Given the description of an element on the screen output the (x, y) to click on. 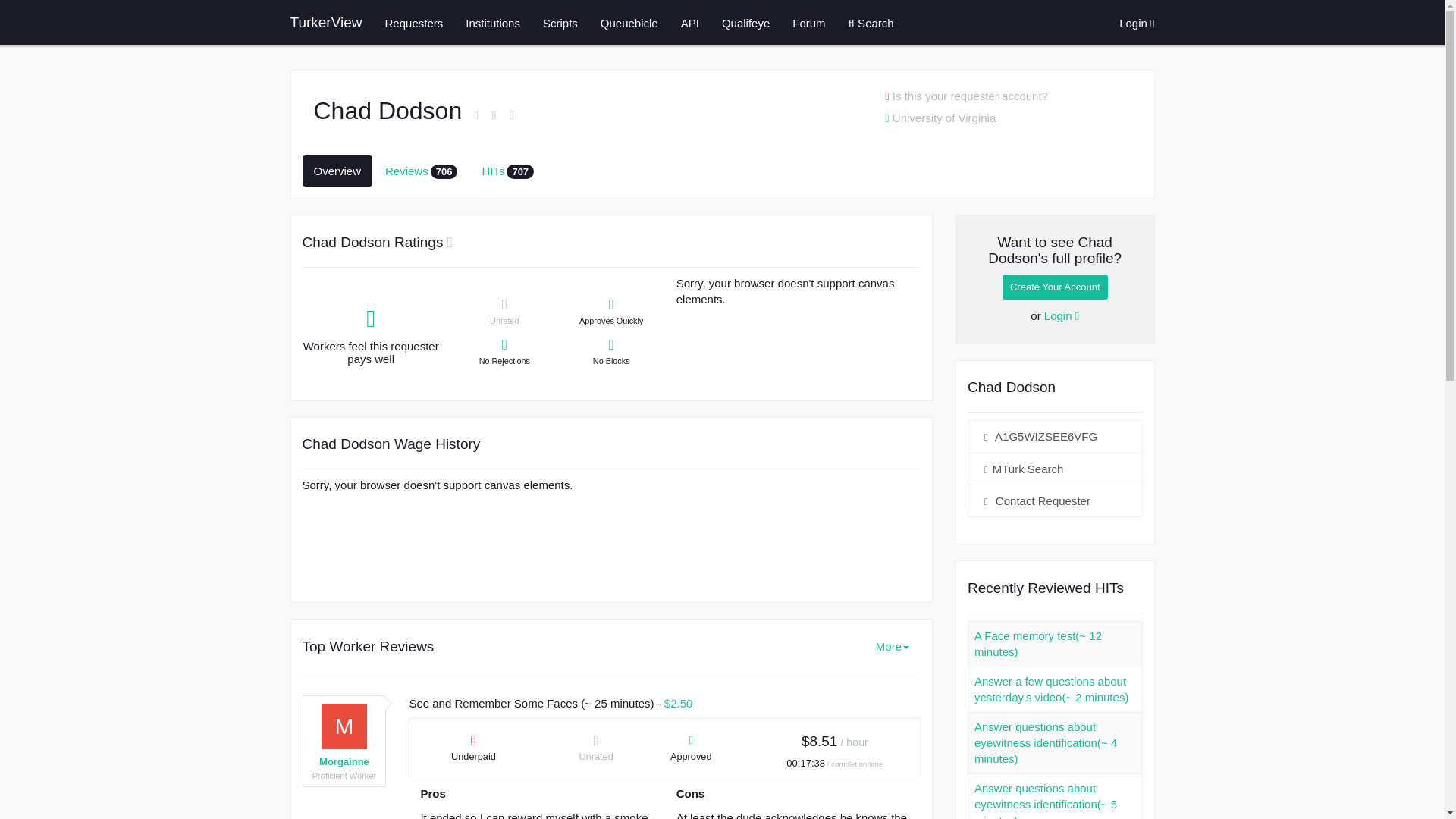
HITs 707 (507, 170)
University of Virginia (940, 117)
Qualifeye (745, 22)
TurkerView (326, 22)
Scripts (560, 22)
API (689, 22)
Institutions (492, 22)
Forum (807, 22)
Queuebicle (629, 22)
More (892, 645)
